Given the description of an element on the screen output the (x, y) to click on. 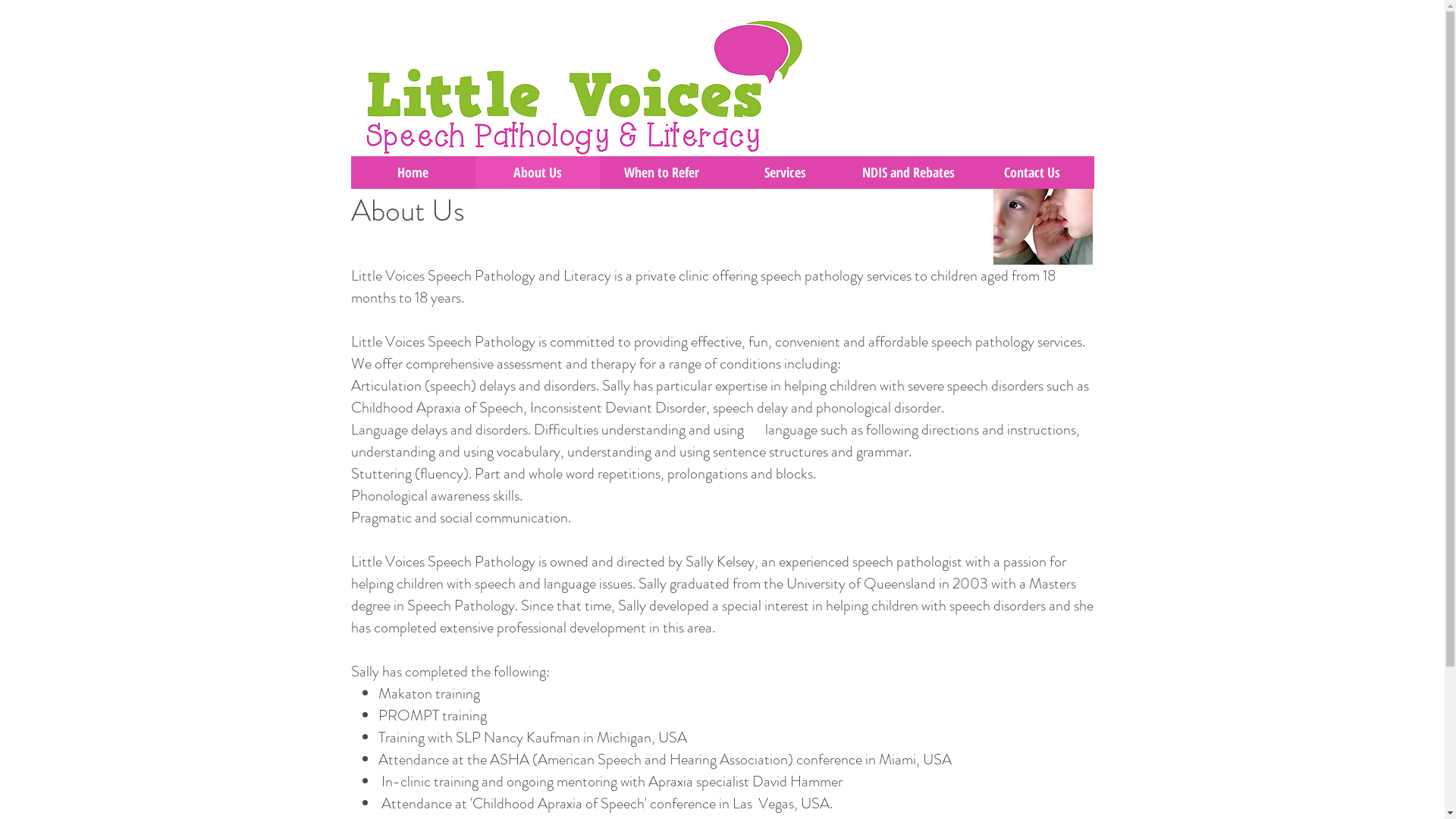
Contact Us Element type: text (1032, 172)
Home Element type: text (412, 172)
When to Refer Element type: text (660, 172)
NDIS and Rebates Element type: text (907, 172)
Little_Voices_Speech_Pathology_Logo_cropped.png Element type: hover (582, 87)
About Us Element type: text (536, 172)
Services Element type: text (785, 172)
